Given the description of an element on the screen output the (x, y) to click on. 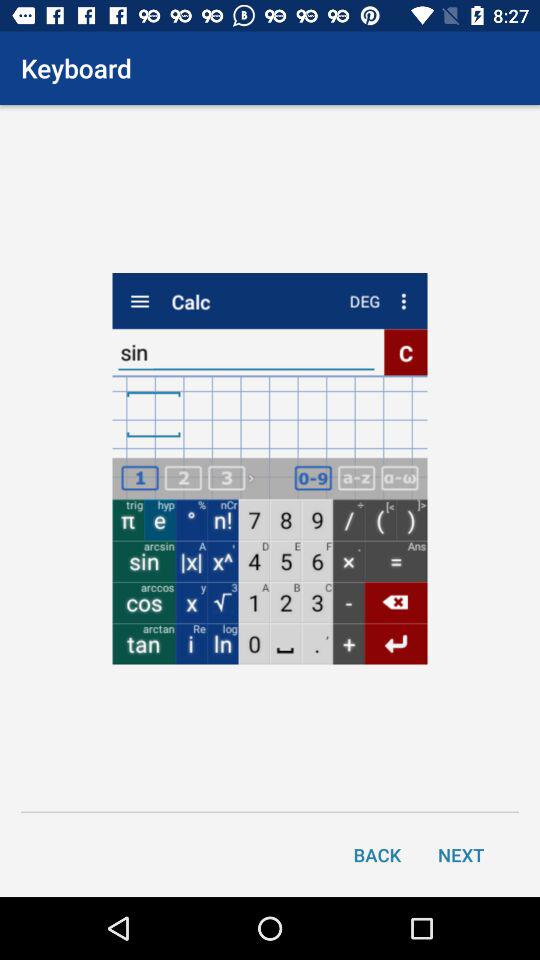
turn on back item (377, 854)
